Given the description of an element on the screen output the (x, y) to click on. 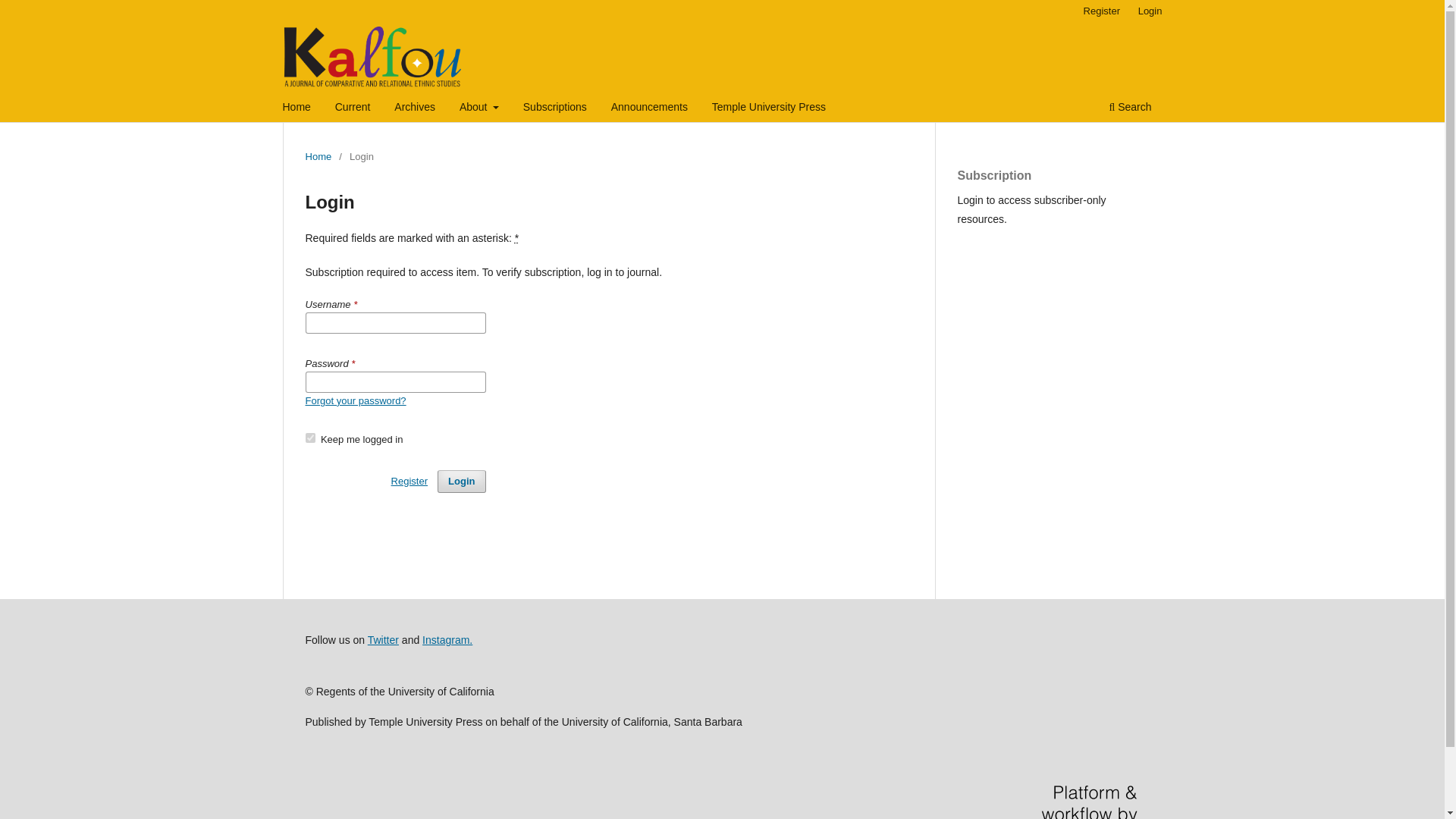
required (516, 237)
Login (461, 481)
1 (309, 438)
Register (1100, 11)
Subscriptions (555, 108)
About (478, 108)
Twitter (383, 639)
Temple University Press (768, 108)
Search (1129, 108)
Home (296, 108)
Instagram. (446, 639)
Forgot your password? (355, 400)
Home (317, 156)
Announcements (649, 108)
Register (409, 481)
